Given the description of an element on the screen output the (x, y) to click on. 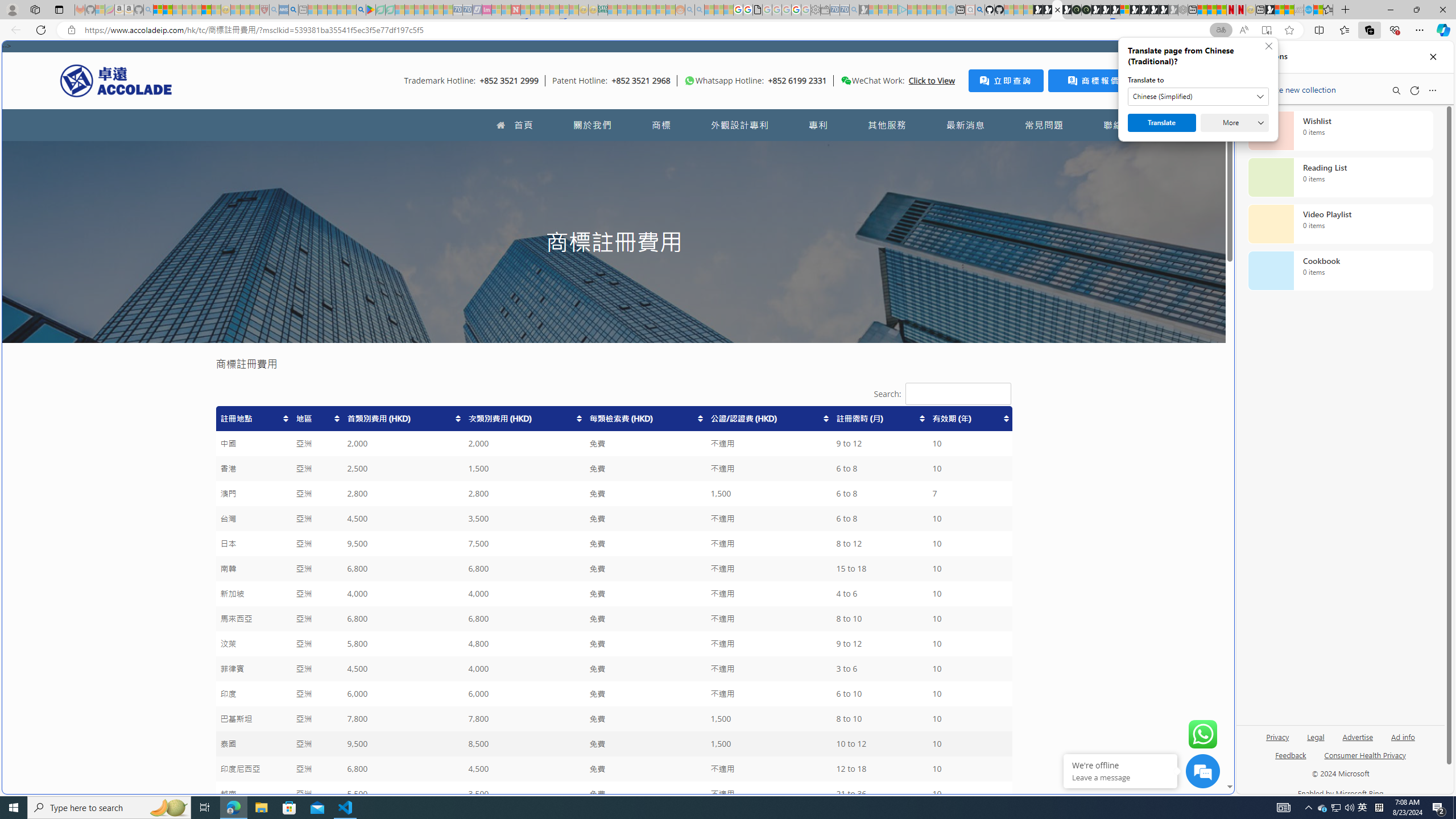
Close split screen (1208, 57)
8 to 10 (879, 718)
Cheap Car Rentals - Save70.com - Sleeping (844, 9)
4,800 (524, 643)
2,800 (524, 493)
6,800 (403, 769)
Accolade IP HK Logo (116, 80)
9,500 (403, 743)
list of asthma inhalers uk - Search - Sleeping (273, 9)
